Given the description of an element on the screen output the (x, y) to click on. 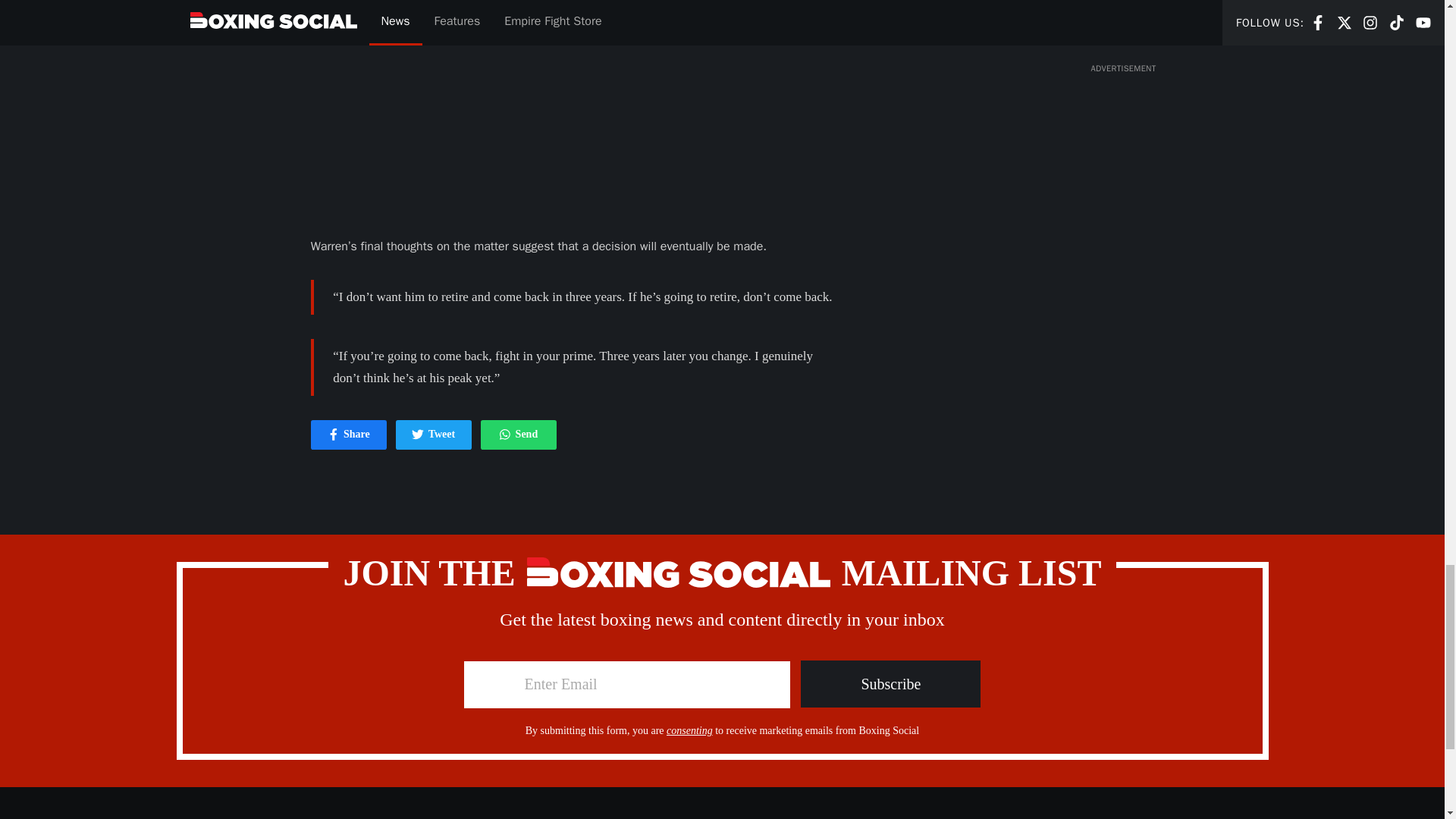
Facebook (333, 434)
Twitter (518, 434)
Subscribe (417, 434)
Subscribe (889, 683)
consenting (349, 434)
WhatsApp (889, 683)
